Given the description of an element on the screen output the (x, y) to click on. 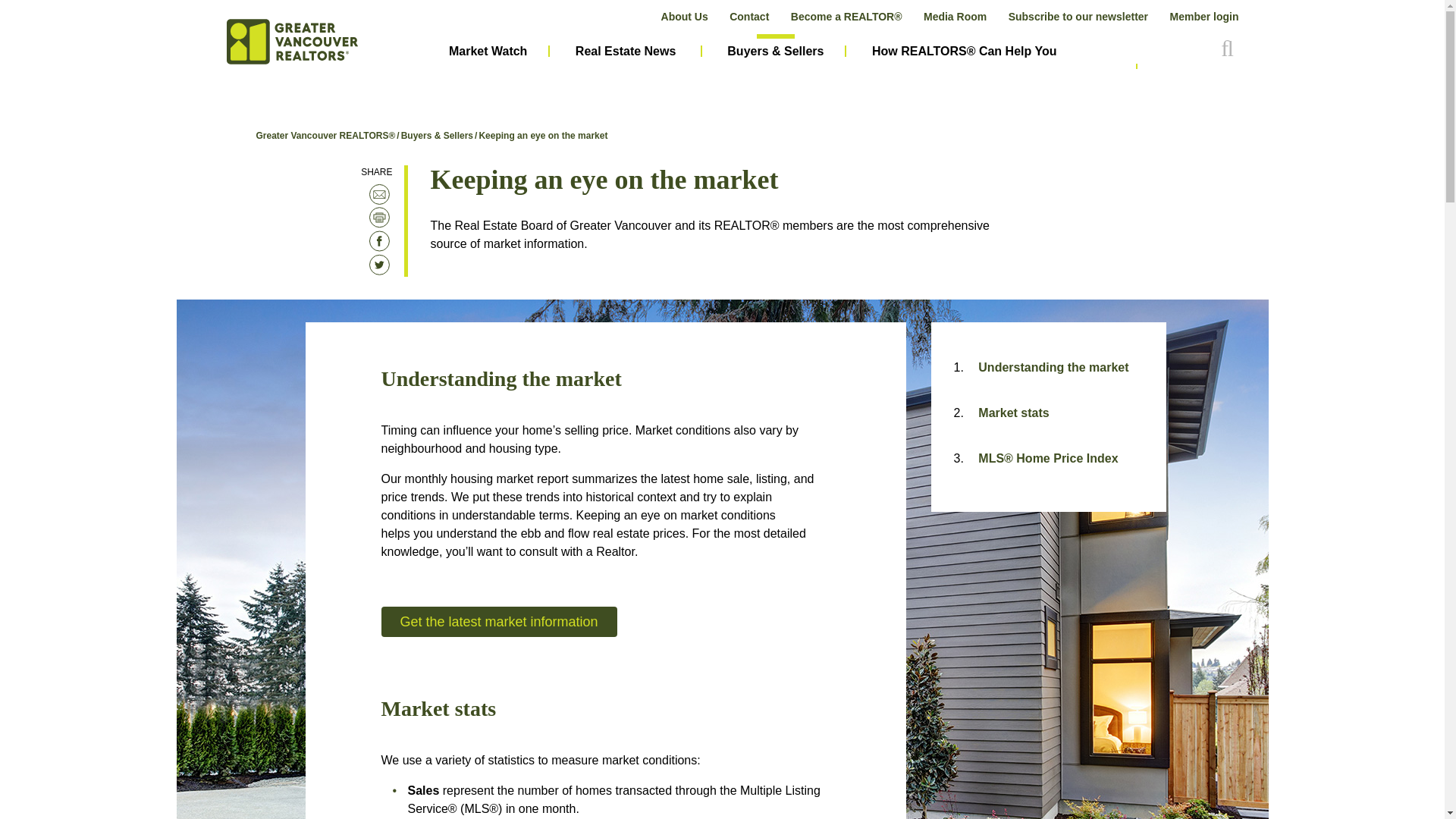
Home (291, 41)
Market Watch (487, 51)
Real Estate News (626, 51)
